Given the description of an element on the screen output the (x, y) to click on. 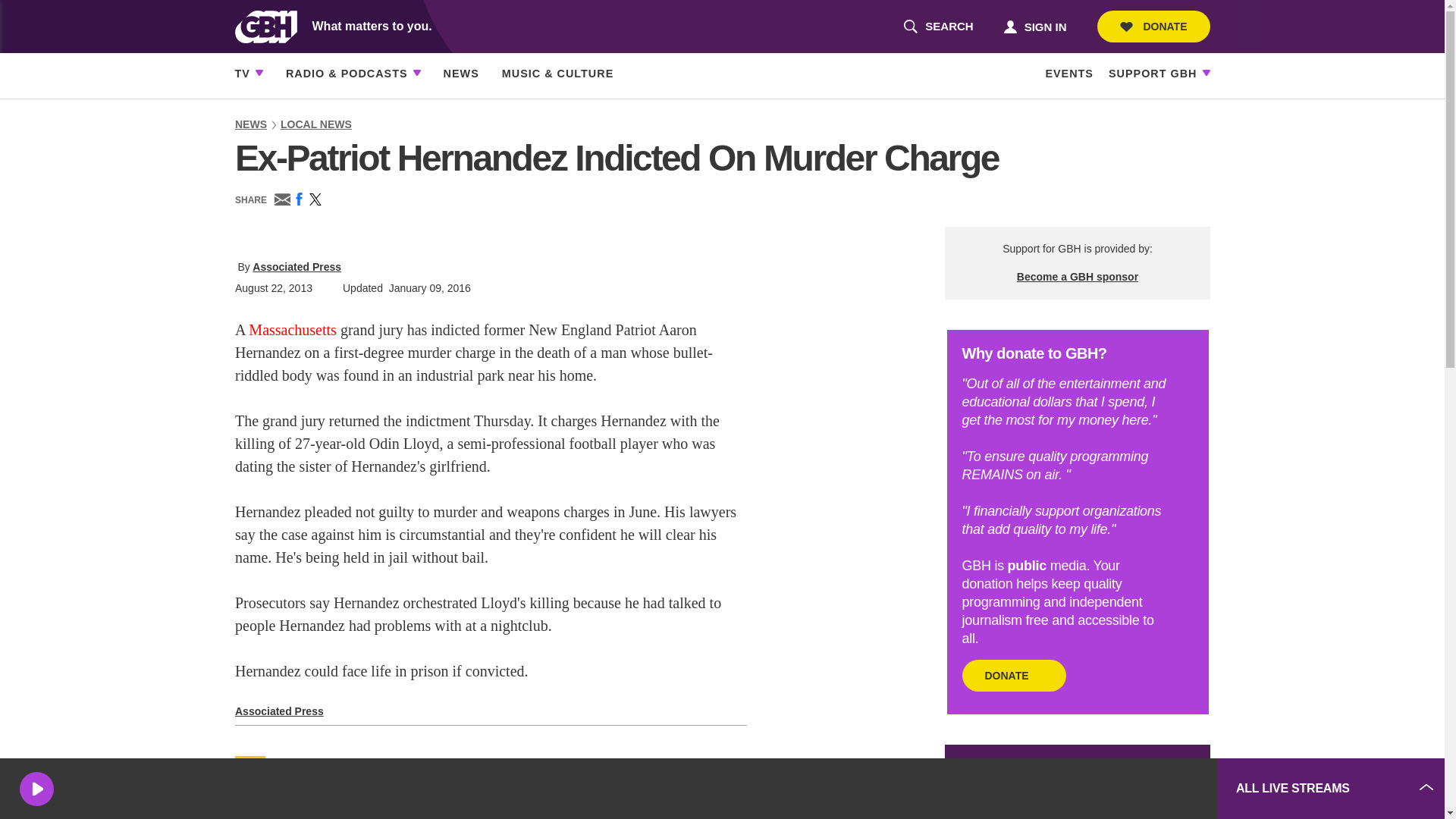
DONATE (937, 26)
SIGN IN (1153, 26)
